Given the description of an element on the screen output the (x, y) to click on. 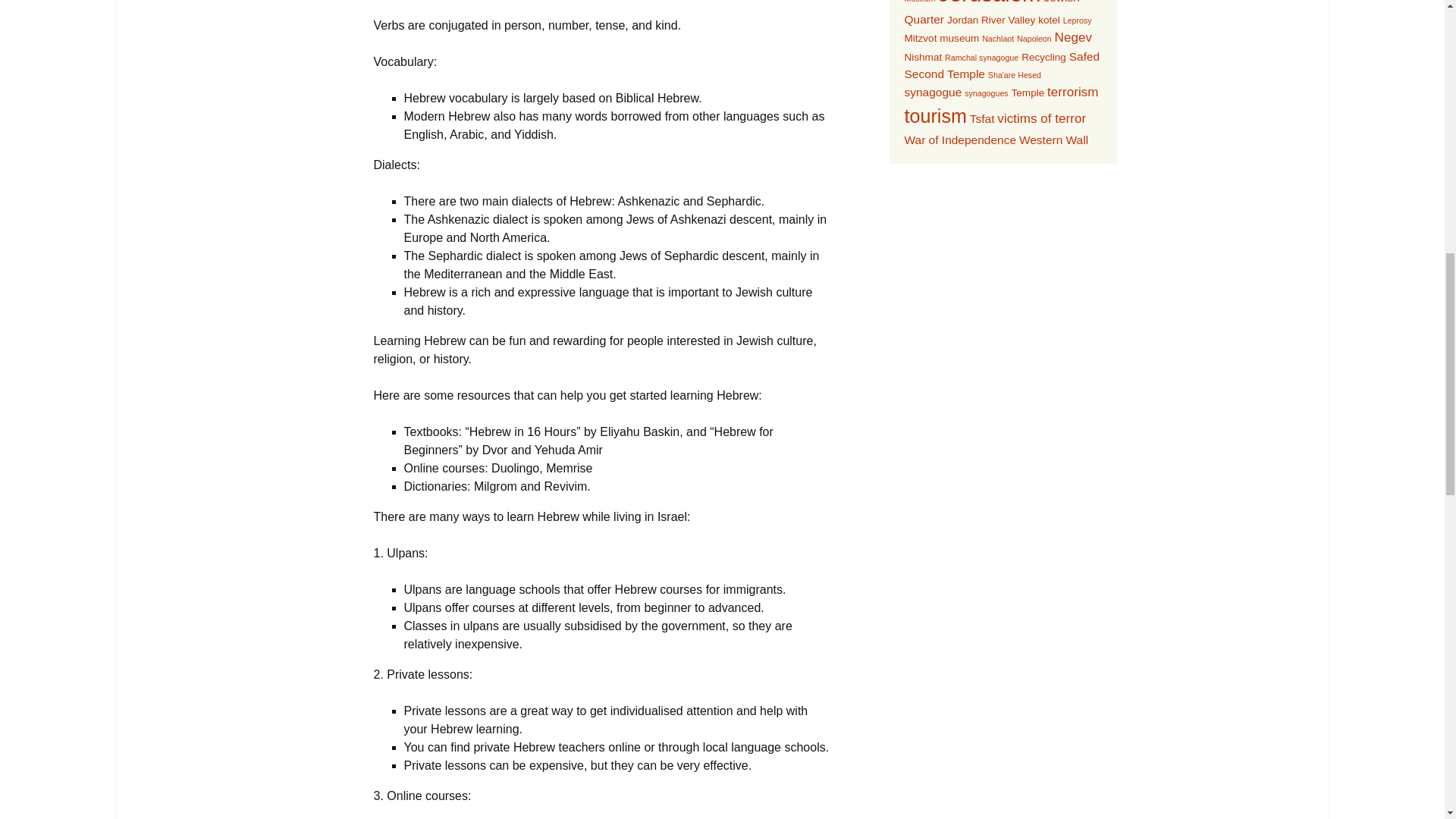
Israel Museum (986, 1)
Jerusalem (989, 2)
Jewish Quarter (991, 12)
Jordan River Valley (991, 19)
